Given the description of an element on the screen output the (x, y) to click on. 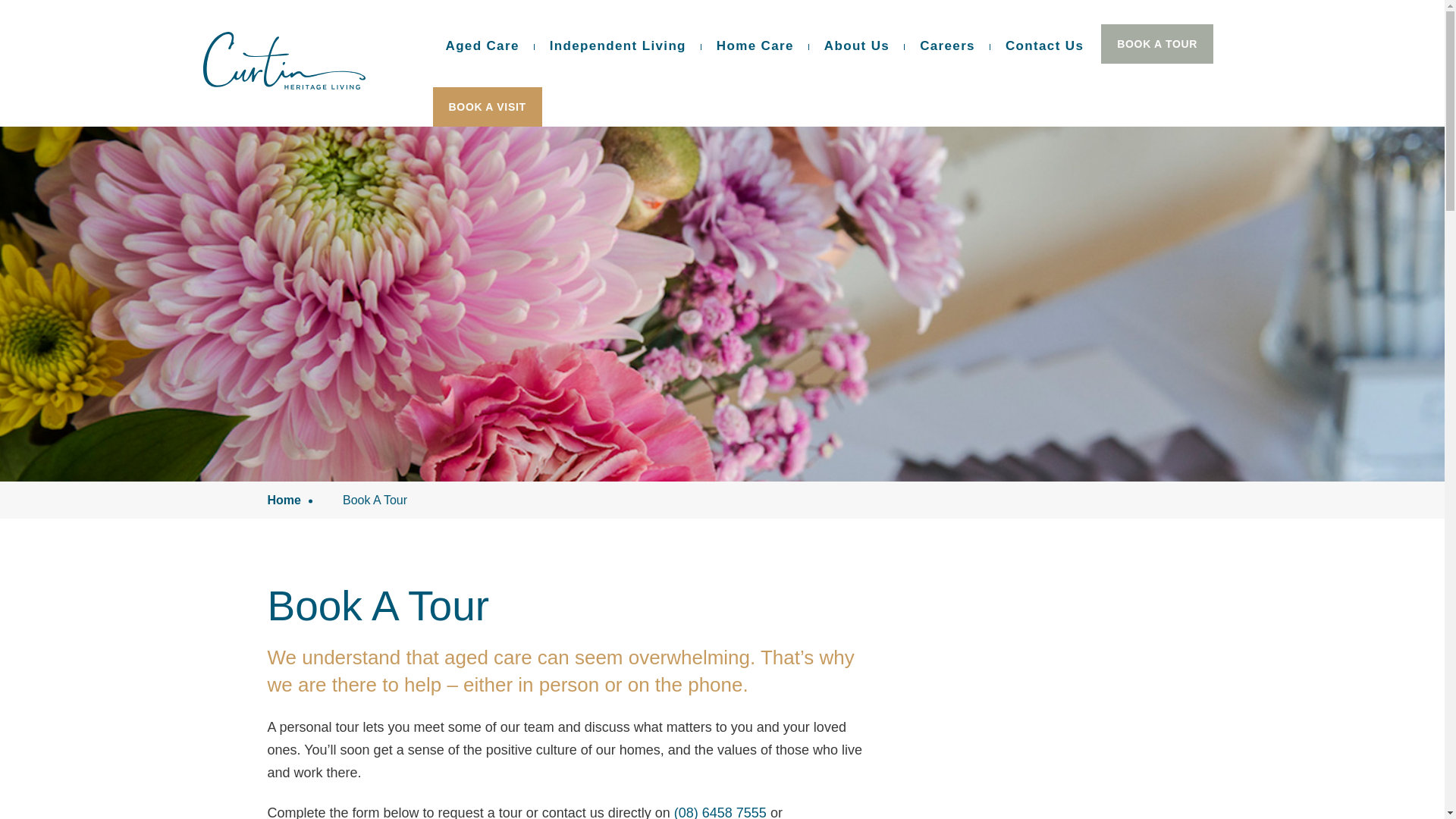
Aged Care Element type: text (482, 45)
About Us Element type: text (856, 45)
BOOK A VISIT Element type: text (486, 106)
Independent Living Element type: text (617, 45)
BOOK A TOUR Element type: text (1157, 43)
Contact Us Element type: text (1044, 45)
Careers Element type: text (947, 45)
Home Care Element type: text (754, 45)
Home Element type: text (283, 499)
